Given the description of an element on the screen output the (x, y) to click on. 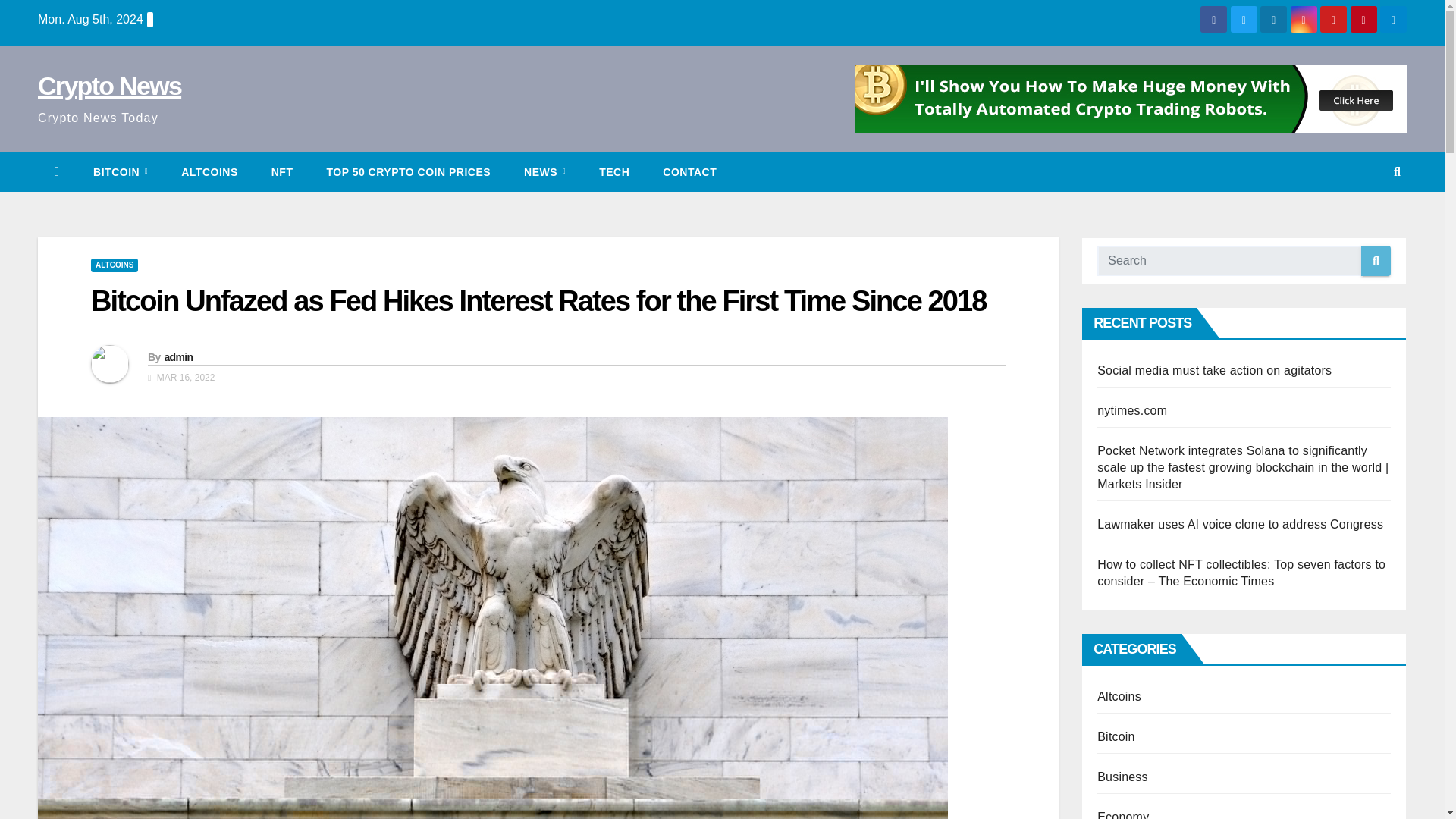
Tech (614, 171)
TECH (614, 171)
CONTACT (689, 171)
Contact (689, 171)
TOP 50 CRYPTO COIN PRICES (407, 171)
Bitcoin (120, 171)
News (544, 171)
ALTCOINS (209, 171)
ALTCOINS (114, 264)
NFT (282, 171)
